Given the description of an element on the screen output the (x, y) to click on. 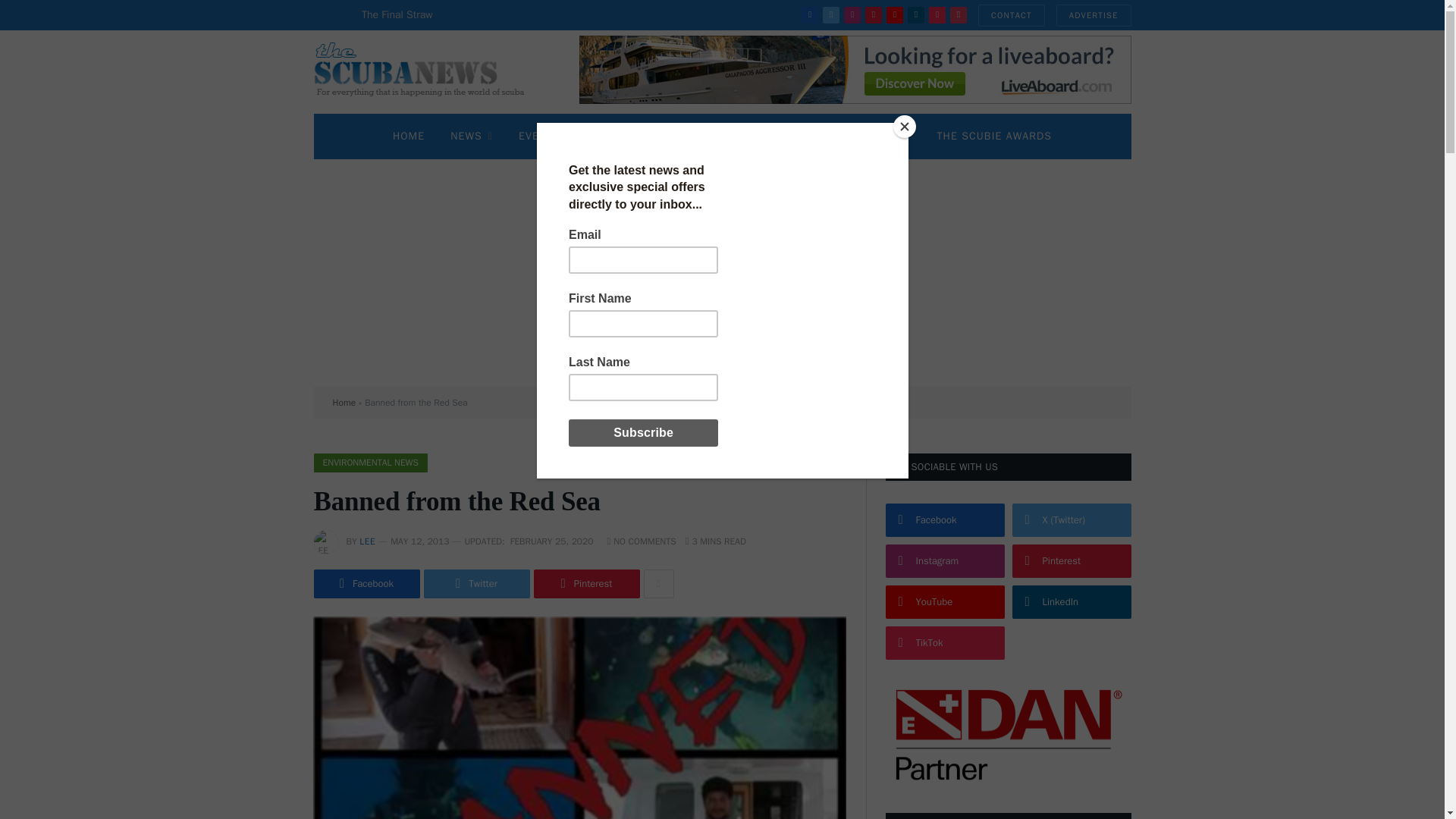
The Scuba News (427, 71)
NEWS (471, 135)
Pinterest (873, 14)
TikTok (936, 14)
The Final Straw (400, 15)
CONTACT (1011, 15)
Threads (958, 14)
Instagram (852, 14)
LinkedIn (915, 14)
YouTube (894, 14)
Facebook (810, 14)
HOME (409, 135)
ADVERTISE (1094, 15)
